Given the description of an element on the screen output the (x, y) to click on. 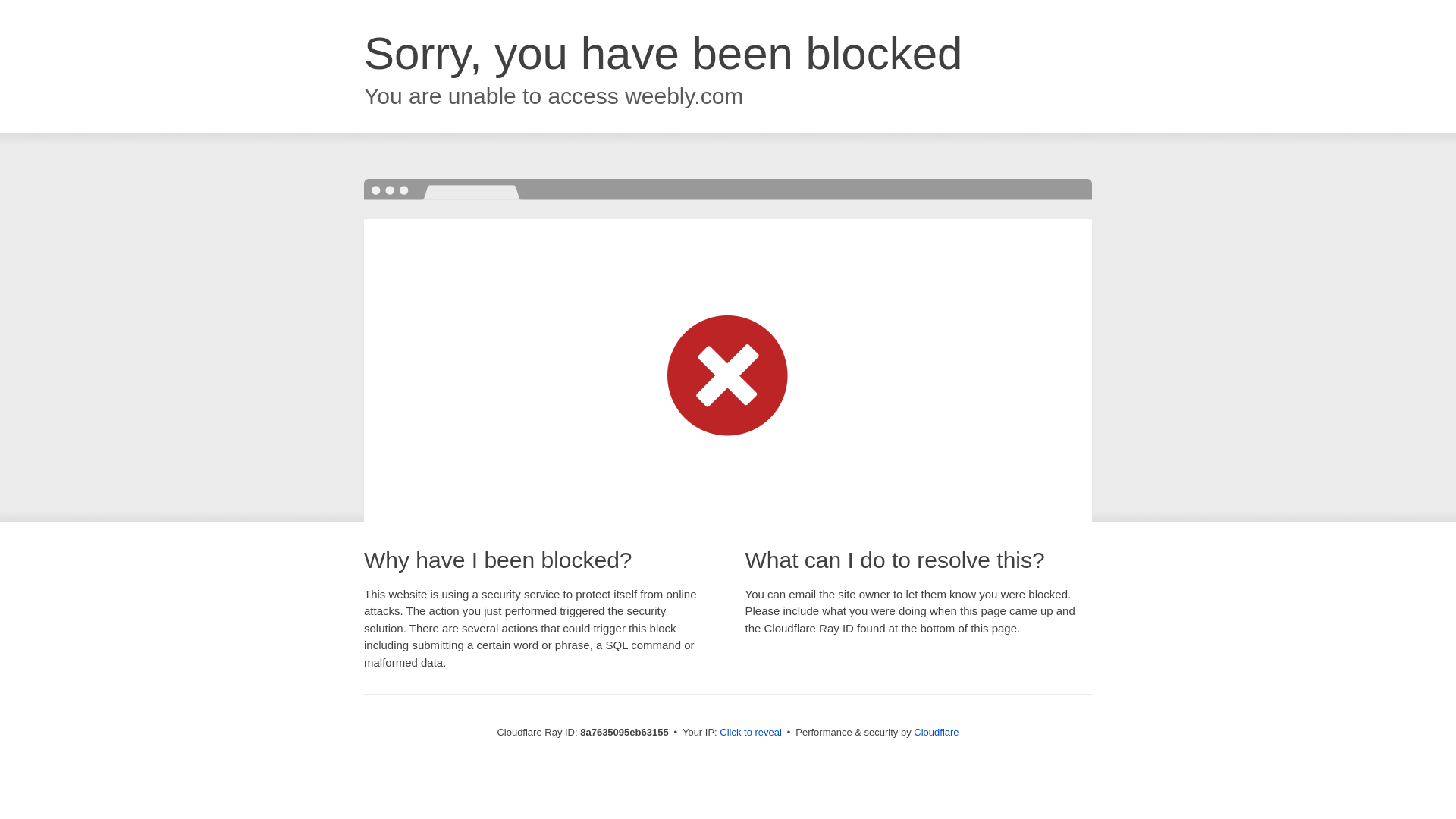
Cloudflare (936, 731)
Click to reveal (750, 732)
